Given the description of an element on the screen output the (x, y) to click on. 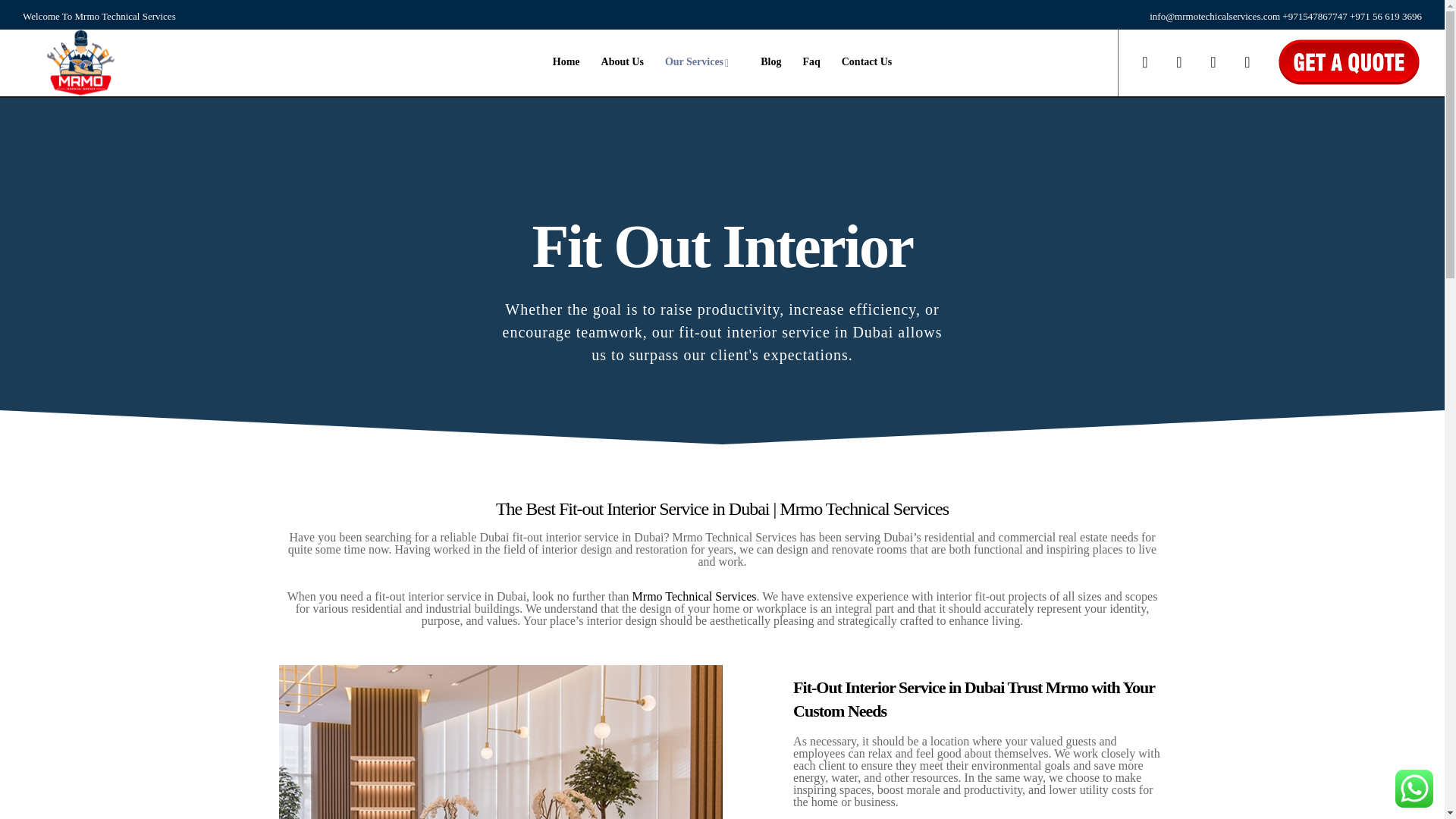
Our Services (701, 61)
Mrmo Technical Services (694, 595)
Contact Us (866, 61)
About Us (622, 61)
